Given the description of an element on the screen output the (x, y) to click on. 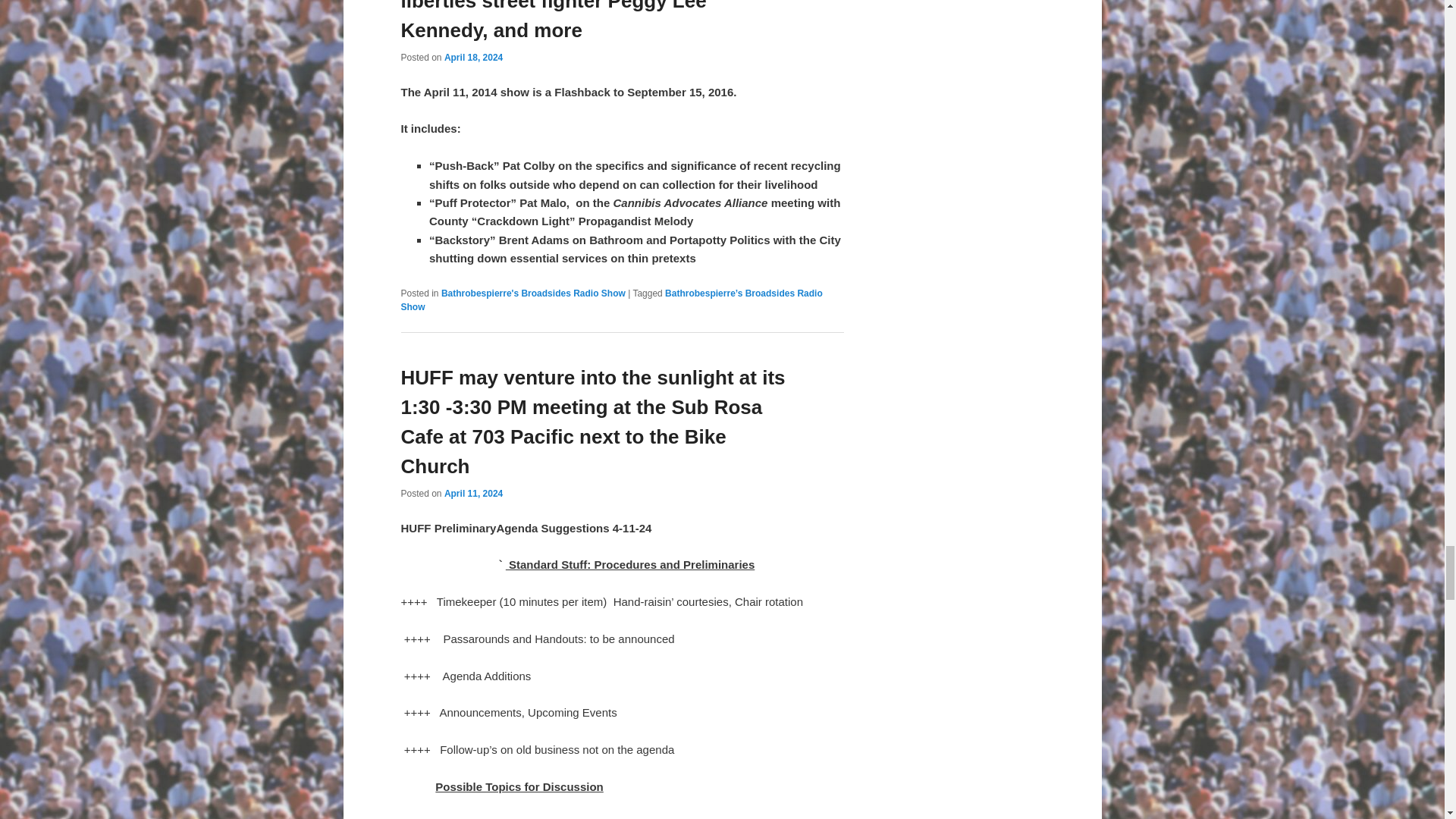
1:32 pm (473, 57)
1:57 pm (473, 493)
